Given the description of an element on the screen output the (x, y) to click on. 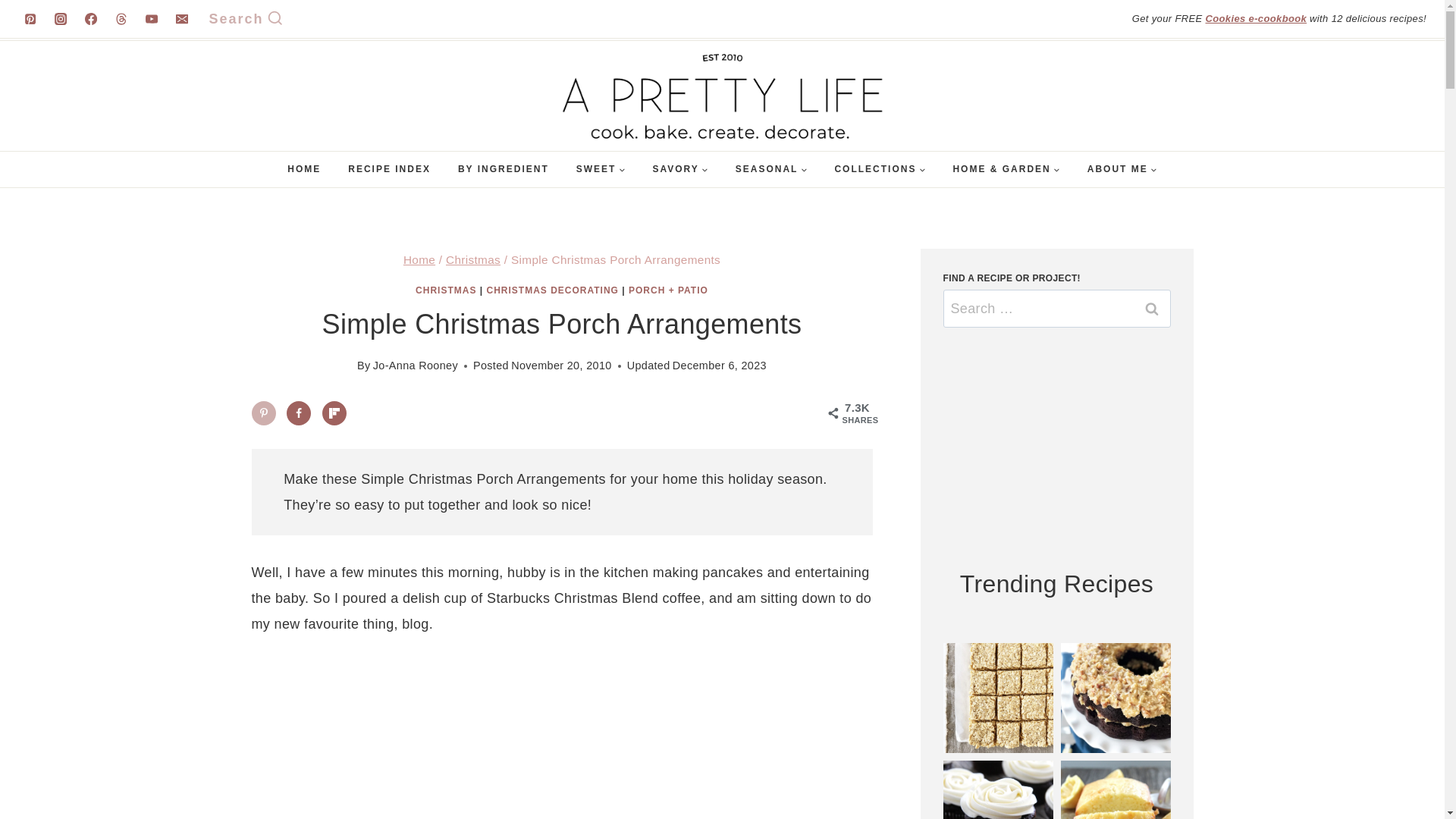
Share on Facebook (298, 413)
SAVORY (679, 169)
Search (245, 18)
HOME (303, 169)
RECIPE INDEX (389, 169)
Search (1151, 308)
Save to Pinterest (263, 413)
BY INGREDIENT (503, 169)
Cookies e-cookbook (1256, 18)
Search (1151, 308)
